Given the description of an element on the screen output the (x, y) to click on. 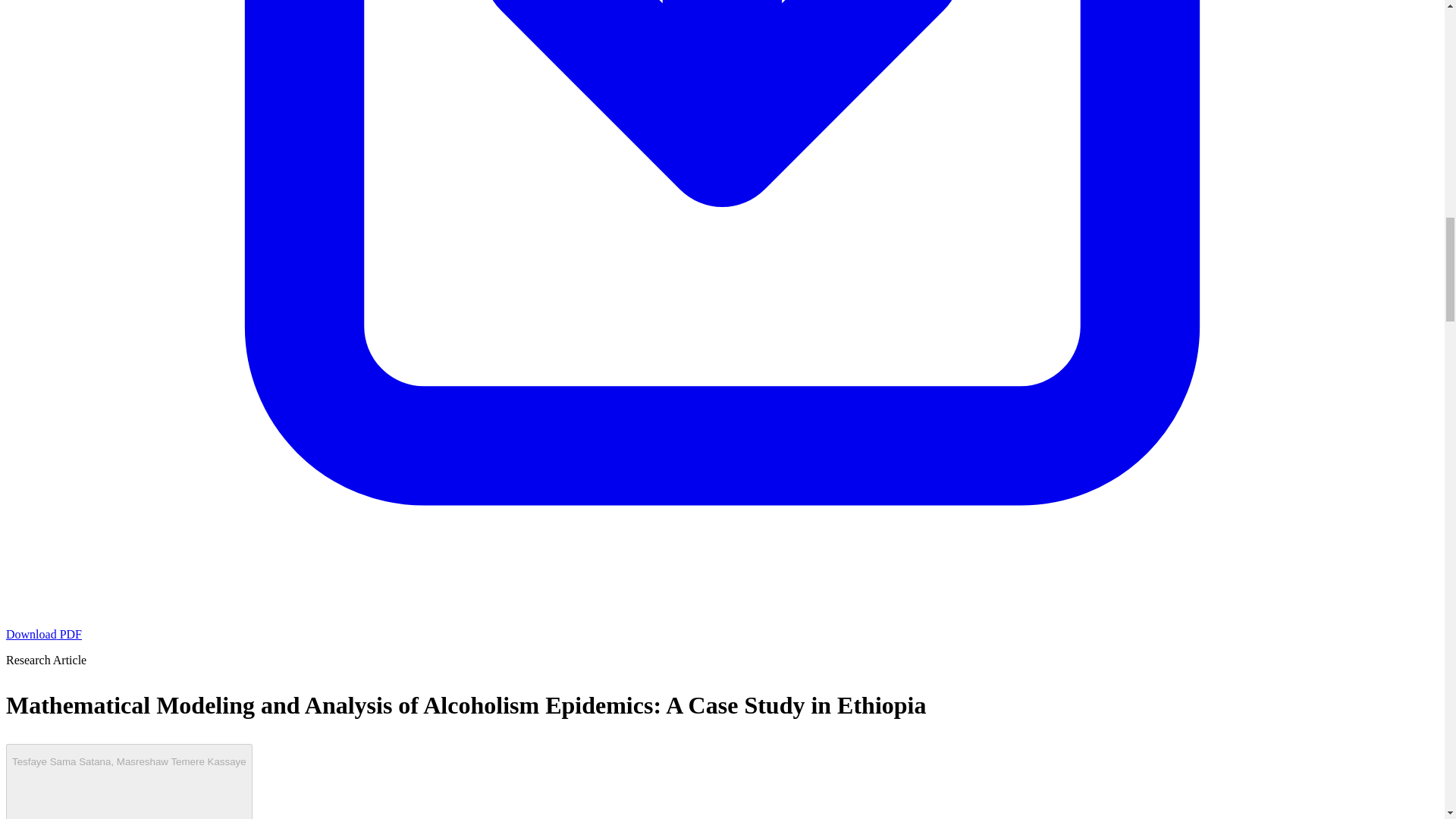
Tesfaye Sama Satana, Masreshaw Temere Kassaye (128, 781)
